Given the description of an element on the screen output the (x, y) to click on. 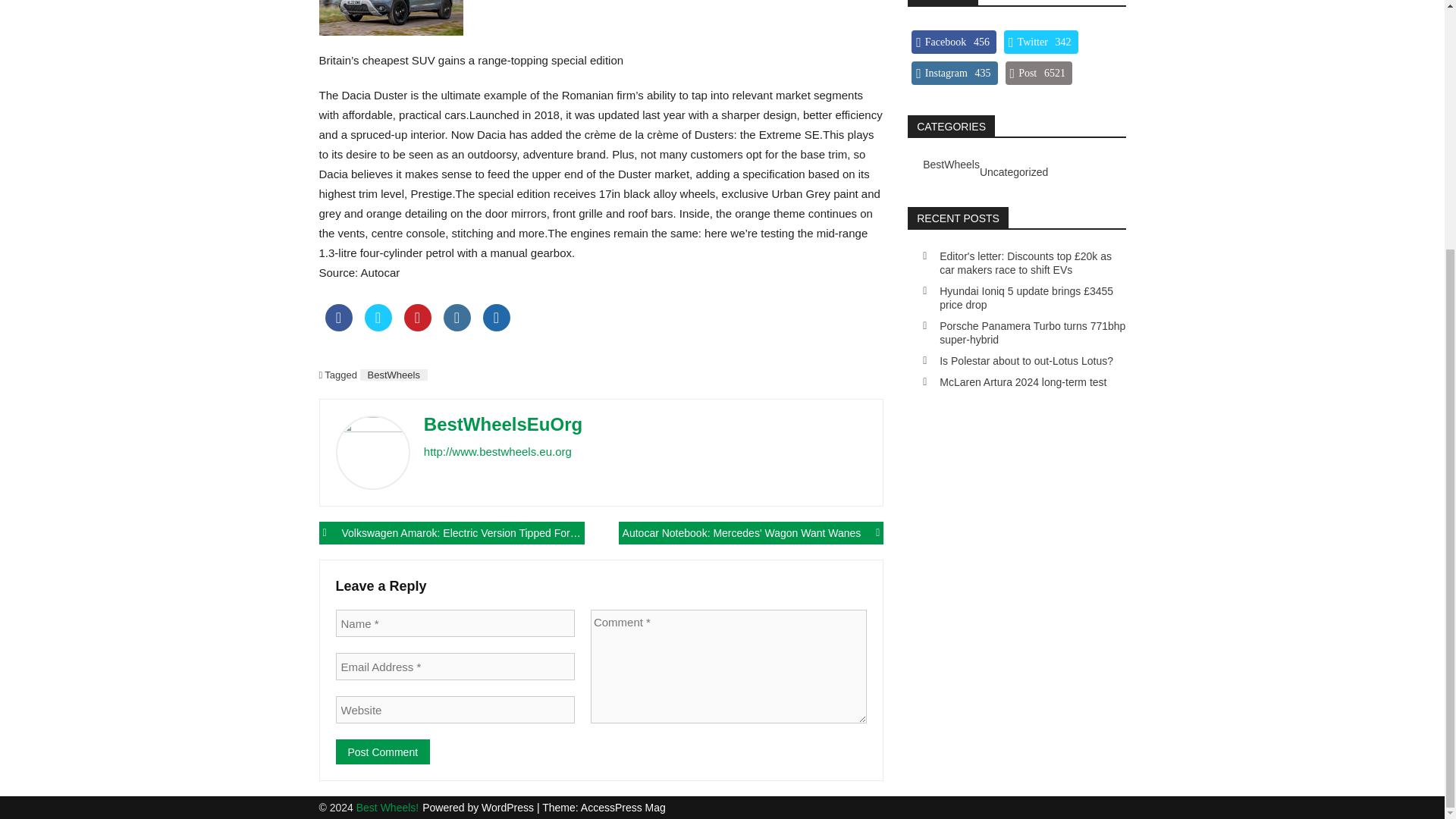
Twitter 342 (1041, 42)
Instagram 435 (954, 73)
001 dacia duster extreme action front 2022  (390, 18)
Uncategorized (1013, 172)
Post Comment (381, 751)
BestWheels (951, 164)
BestWheels (393, 374)
Autocar Notebook: Mercedes' Wagon Want Wanes (750, 532)
BestWheelsEuOrg (502, 424)
Post Comment (381, 751)
AccessPress Themes (622, 807)
Facebook 456 (953, 42)
Post 6521 (1038, 73)
